Given the description of an element on the screen output the (x, y) to click on. 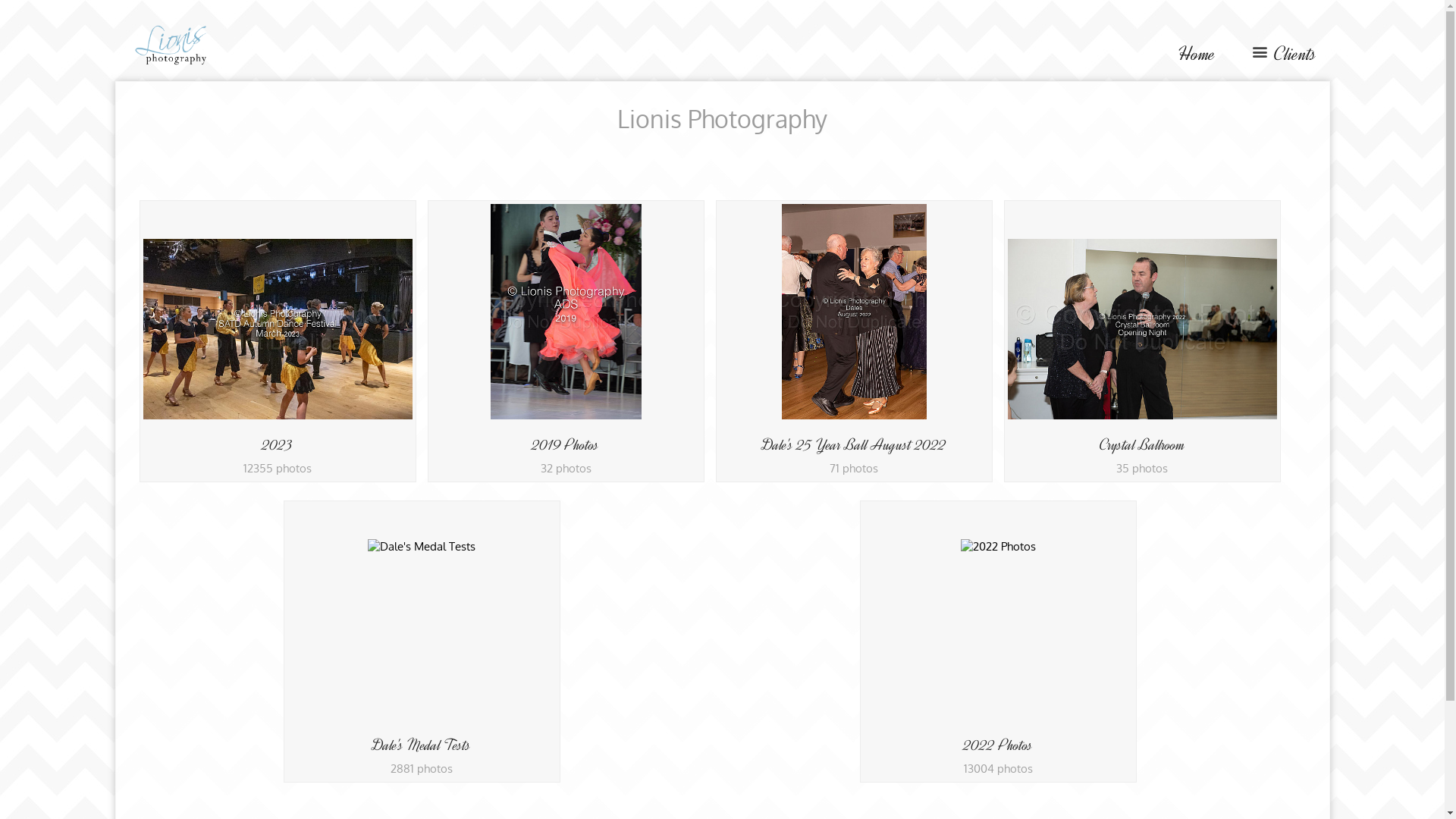
2019 Photos Element type: text (565, 444)
Dale's Medal Tests Element type: text (421, 744)
Crystal Ballroom Element type: text (1142, 444)
Clients Element type: text (1281, 54)
2022 Photos Element type: text (997, 744)
Home Element type: text (1197, 54)
Dale's 25 Year Ball August 2022 Element type: text (854, 444)
2023 Element type: text (277, 444)
